Given the description of an element on the screen output the (x, y) to click on. 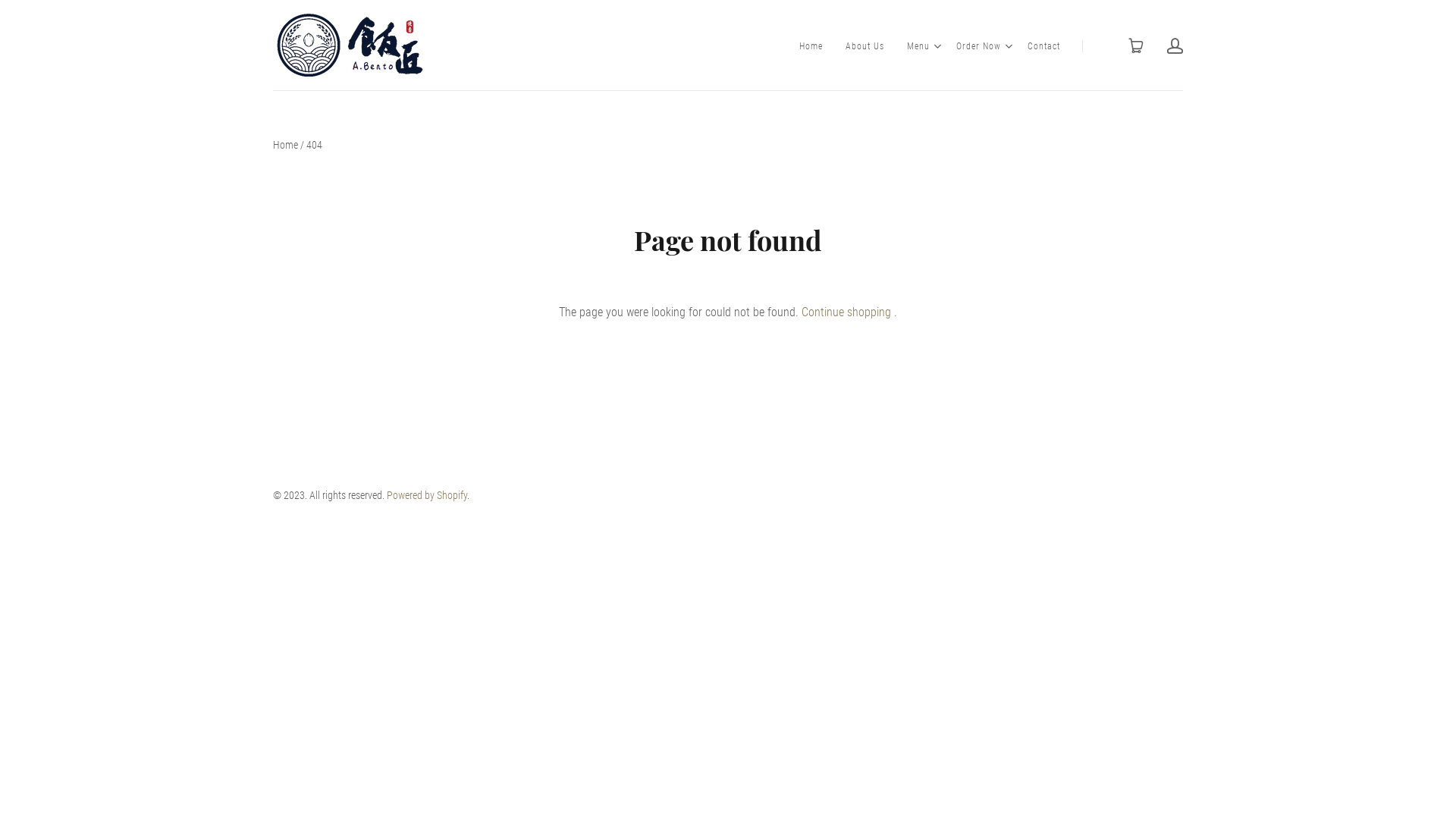
Powered by Shopify Element type: text (426, 495)
Order Now Element type: text (978, 45)
About Us Element type: text (864, 45)
Continue shopping Element type: text (846, 311)
Home Element type: text (285, 144)
Menu Element type: text (917, 45)
Contact Element type: text (1043, 45)
Home Element type: text (810, 45)
